Given the description of an element on the screen output the (x, y) to click on. 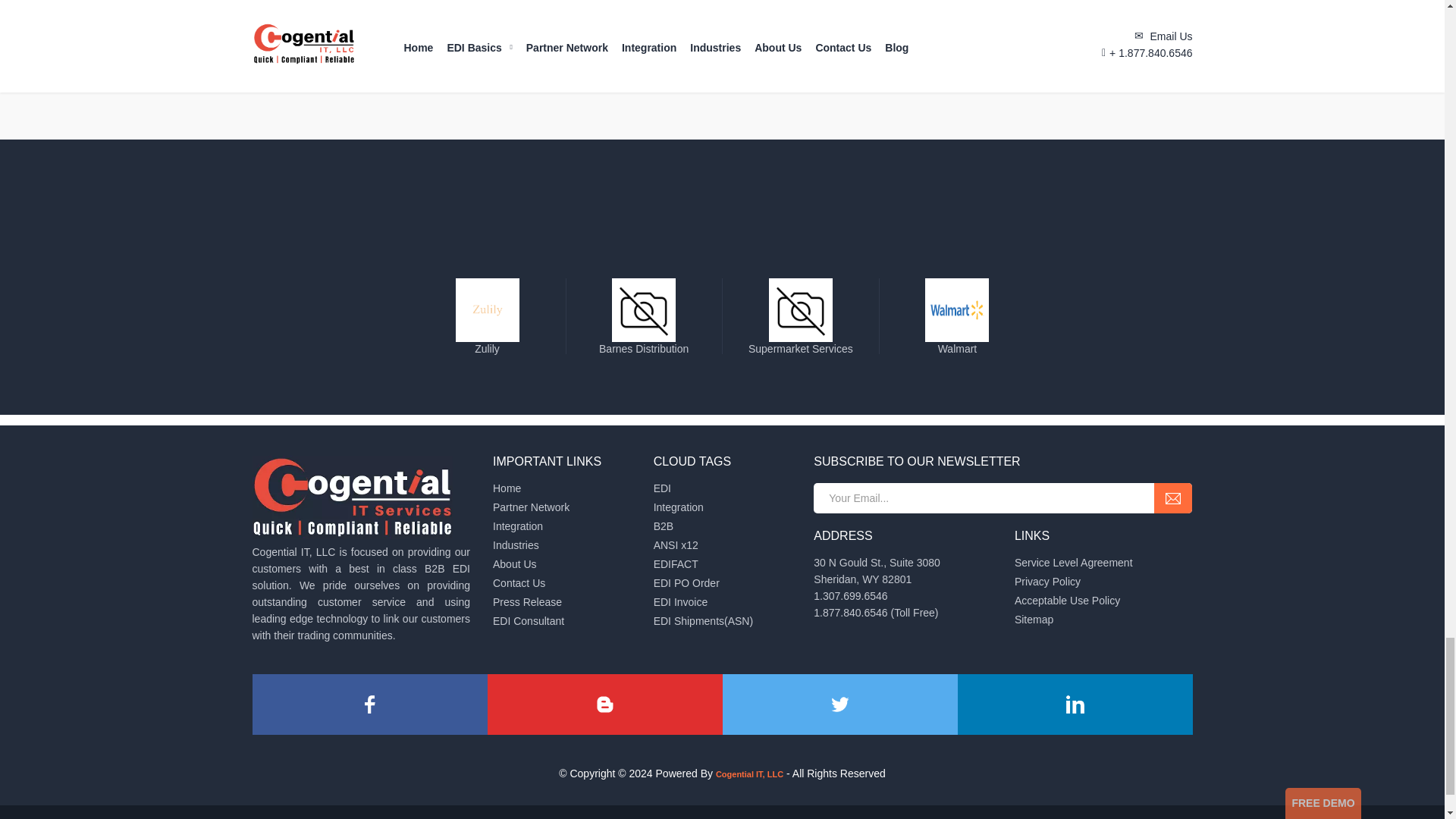
Privacy Policy (1047, 581)
Integration (518, 526)
Service Level Agreement (1073, 562)
ANSI x12 (675, 544)
Zulily EDI (487, 342)
edi invoice 810 (680, 602)
Acceptable Use Policy (1066, 600)
edi transaction (675, 544)
About Us (515, 563)
EDIFACT (675, 563)
Contact Us (518, 582)
Barnes Distribution EDI (644, 342)
Supermarket Services EDI (800, 342)
Industries (515, 544)
EDI PO Order (686, 582)
